Given the description of an element on the screen output the (x, y) to click on. 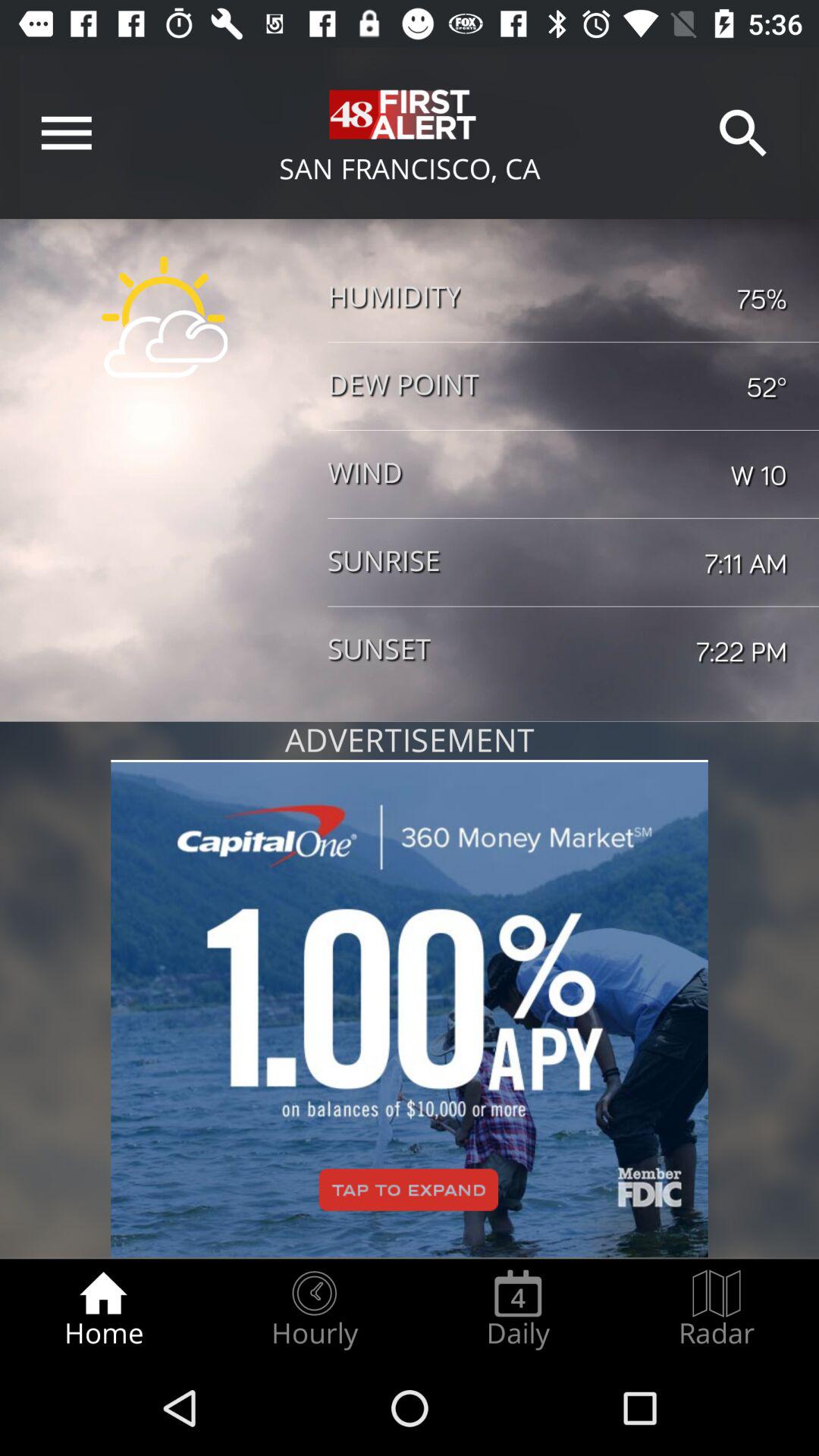
flip until radar radio button (716, 1309)
